Given the description of an element on the screen output the (x, y) to click on. 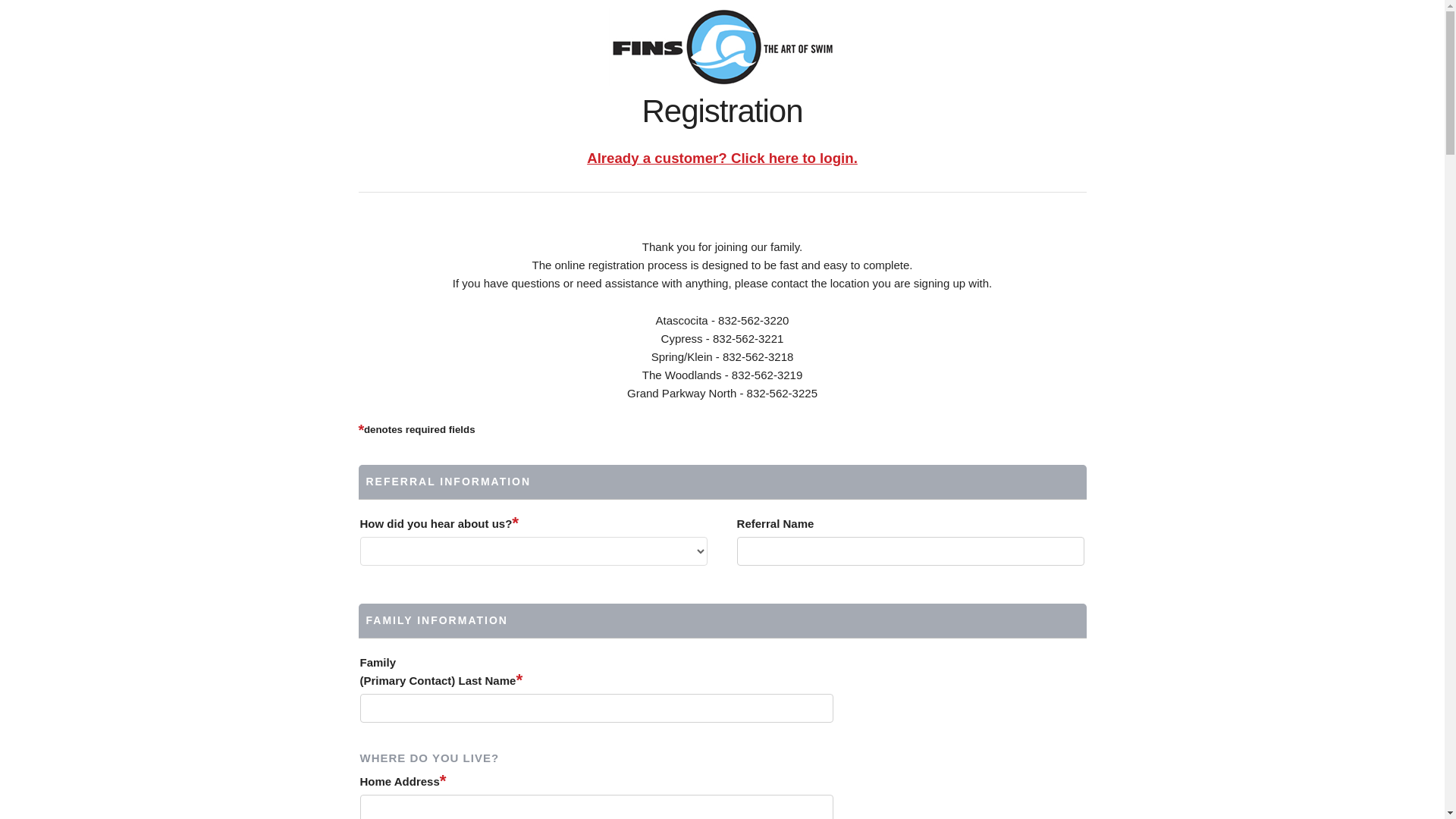
Already a customer? Click here to login. (721, 157)
